Given the description of an element on the screen output the (x, y) to click on. 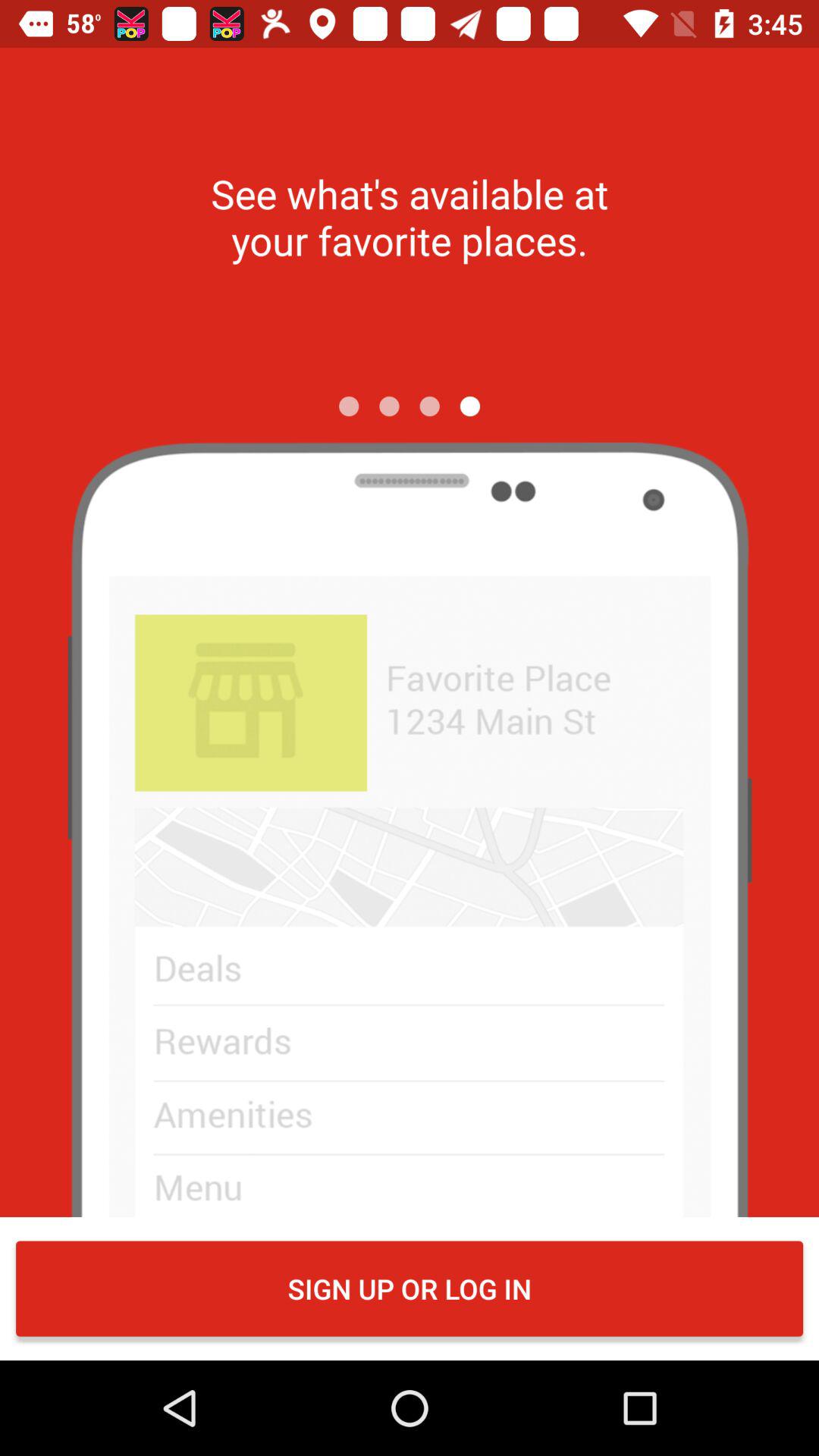
turn off icon below the see what s (348, 406)
